Given the description of an element on the screen output the (x, y) to click on. 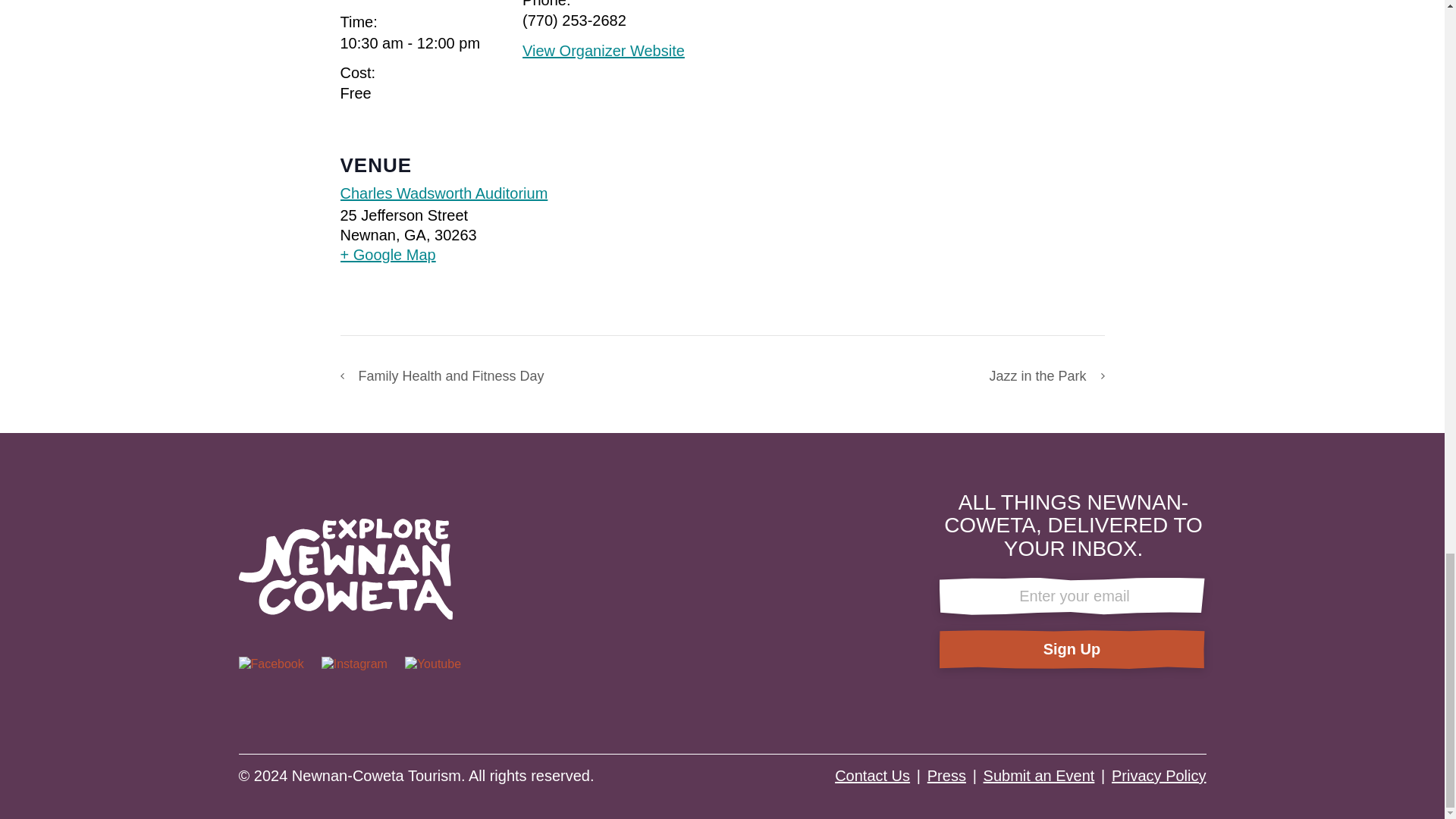
2023-06-12 (409, 43)
Click to view a Google Map (443, 254)
Sign Up (1071, 649)
